Given the description of an element on the screen output the (x, y) to click on. 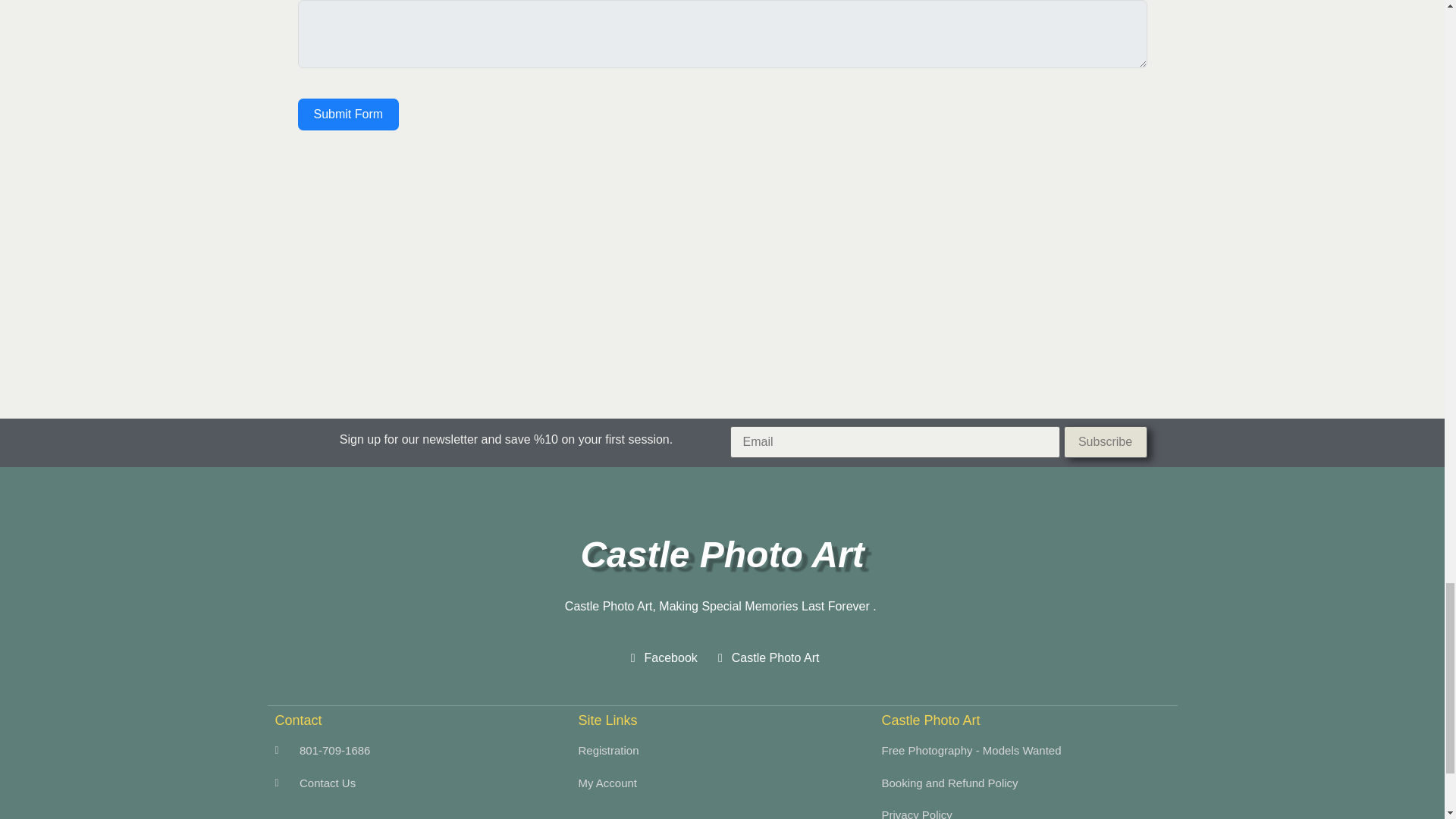
Subscribe (1104, 441)
Facebook (661, 658)
Registration (722, 751)
Contact Us (418, 783)
Submit Form (347, 114)
Castle Photo Art (766, 658)
